Given the description of an element on the screen output the (x, y) to click on. 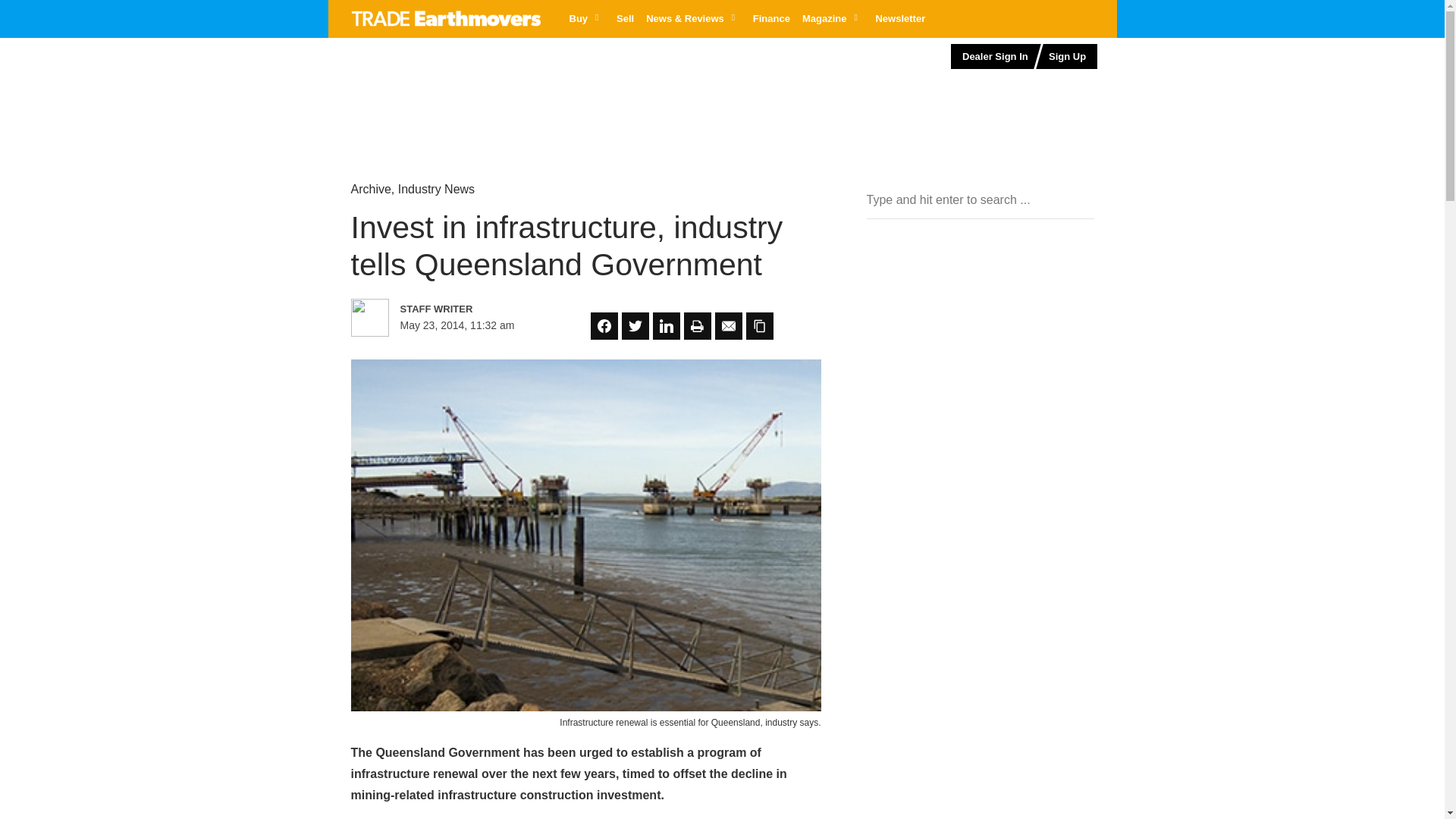
View all posts by Staff Writer (465, 308)
Share on LinkedIn (665, 325)
Share on Print (697, 325)
Share on Email (728, 325)
3rd party ad content (979, 397)
Share on Copy Link (759, 325)
3rd party ad content (459, 87)
Buy (586, 18)
Type and hit enter to search ... (979, 200)
Share on Twitter (635, 325)
